Given the description of an element on the screen output the (x, y) to click on. 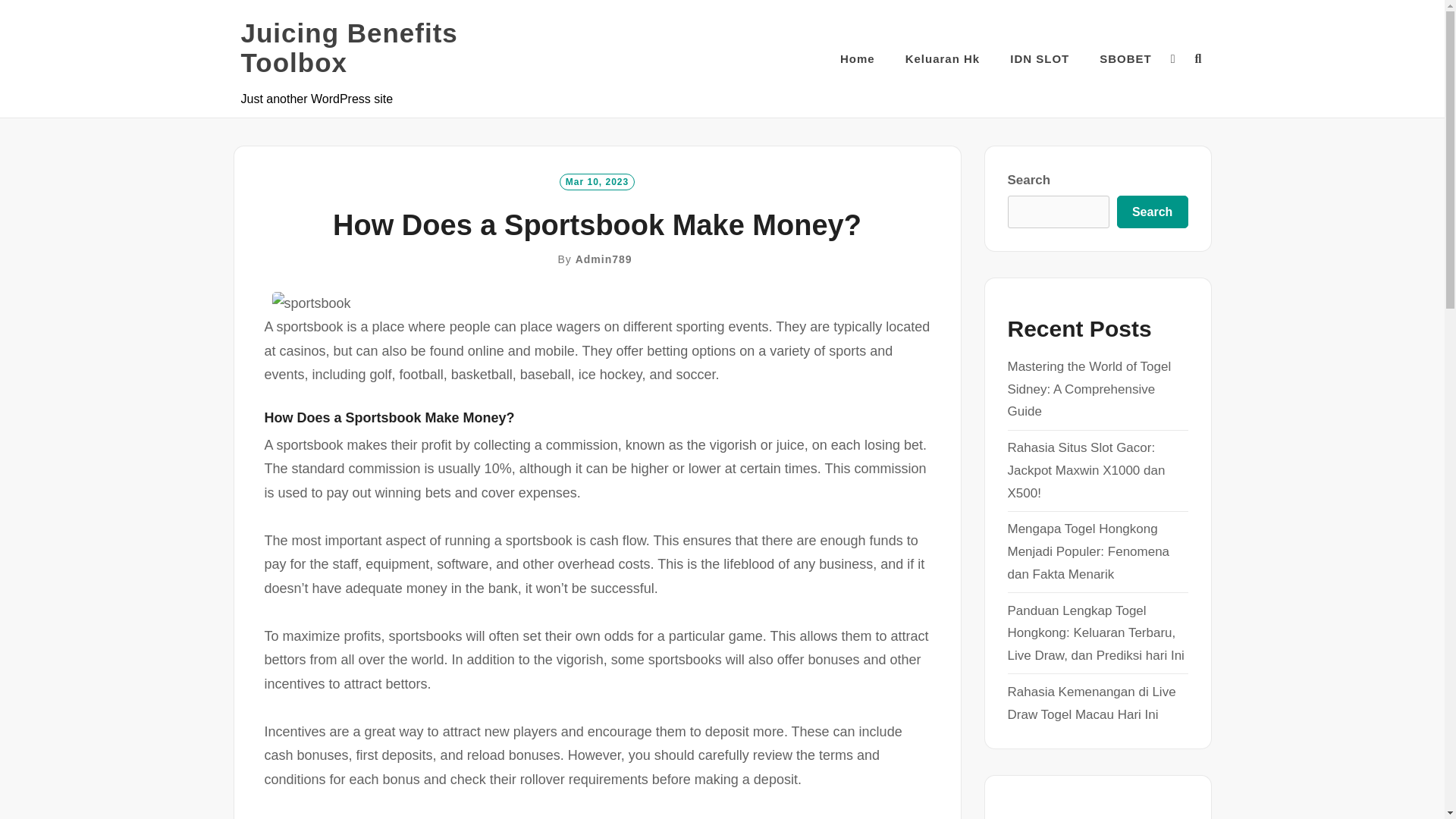
IDN SLOT (1039, 57)
Mar 10, 2023 (596, 181)
Keluaran Hk (942, 57)
Admin789 (603, 259)
Rahasia Situs Slot Gacor: Jackpot Maxwin X1000 dan X500! (1085, 470)
SBOBET (1125, 57)
Rahasia Kemenangan di Live Draw Togel Macau Hari Ini (1090, 702)
Home (857, 57)
